Given the description of an element on the screen output the (x, y) to click on. 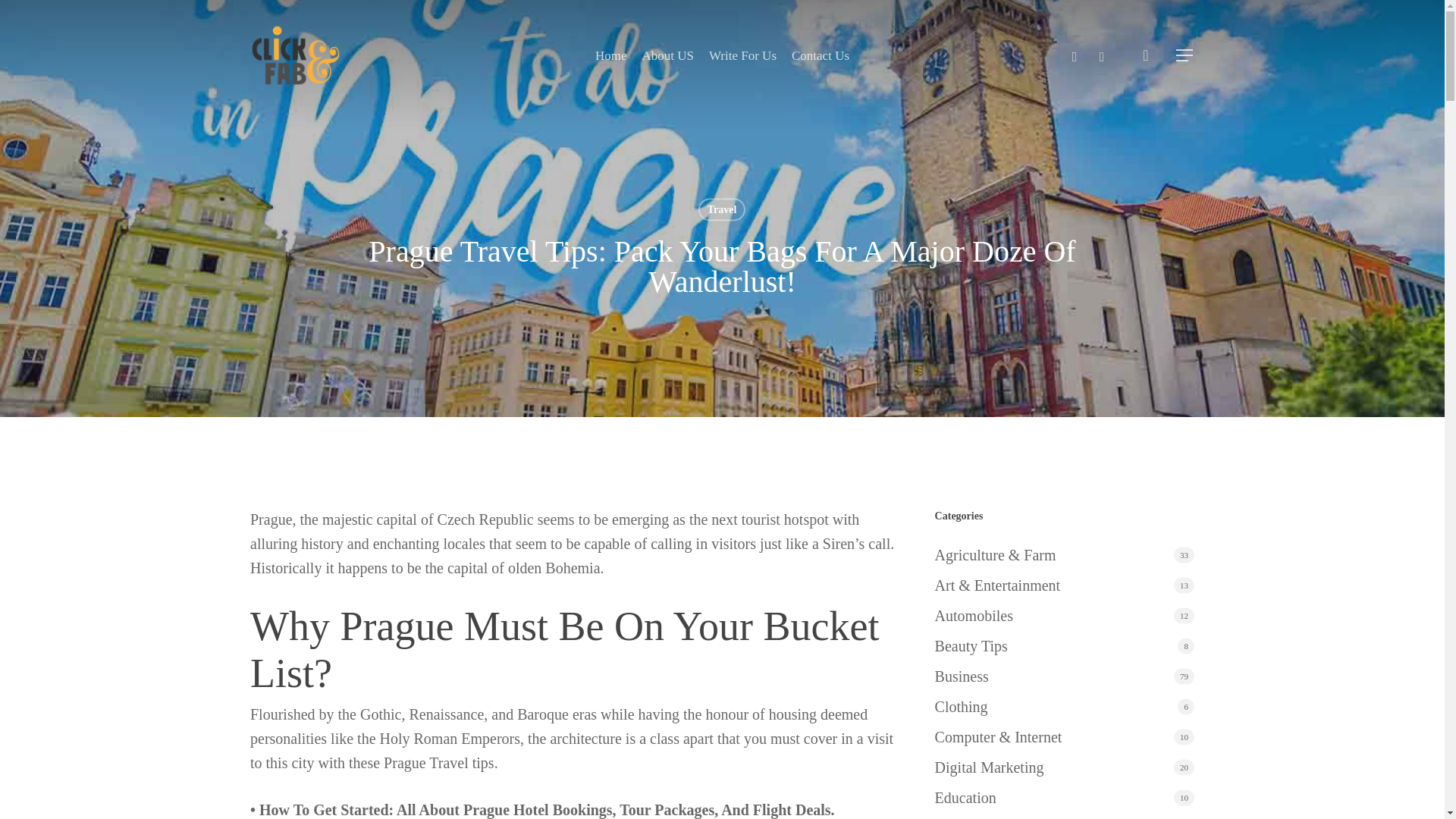
Menu (1184, 54)
Home (611, 54)
Clothing (1063, 706)
instagram (1101, 54)
Contact Us (820, 54)
About US (667, 54)
Travel (721, 210)
Business (1063, 676)
Automobiles (1063, 615)
Write For Us (742, 54)
search (1145, 54)
Beauty Tips (1063, 645)
facebook (1074, 54)
Environment (1063, 817)
Education (1063, 797)
